Given the description of an element on the screen output the (x, y) to click on. 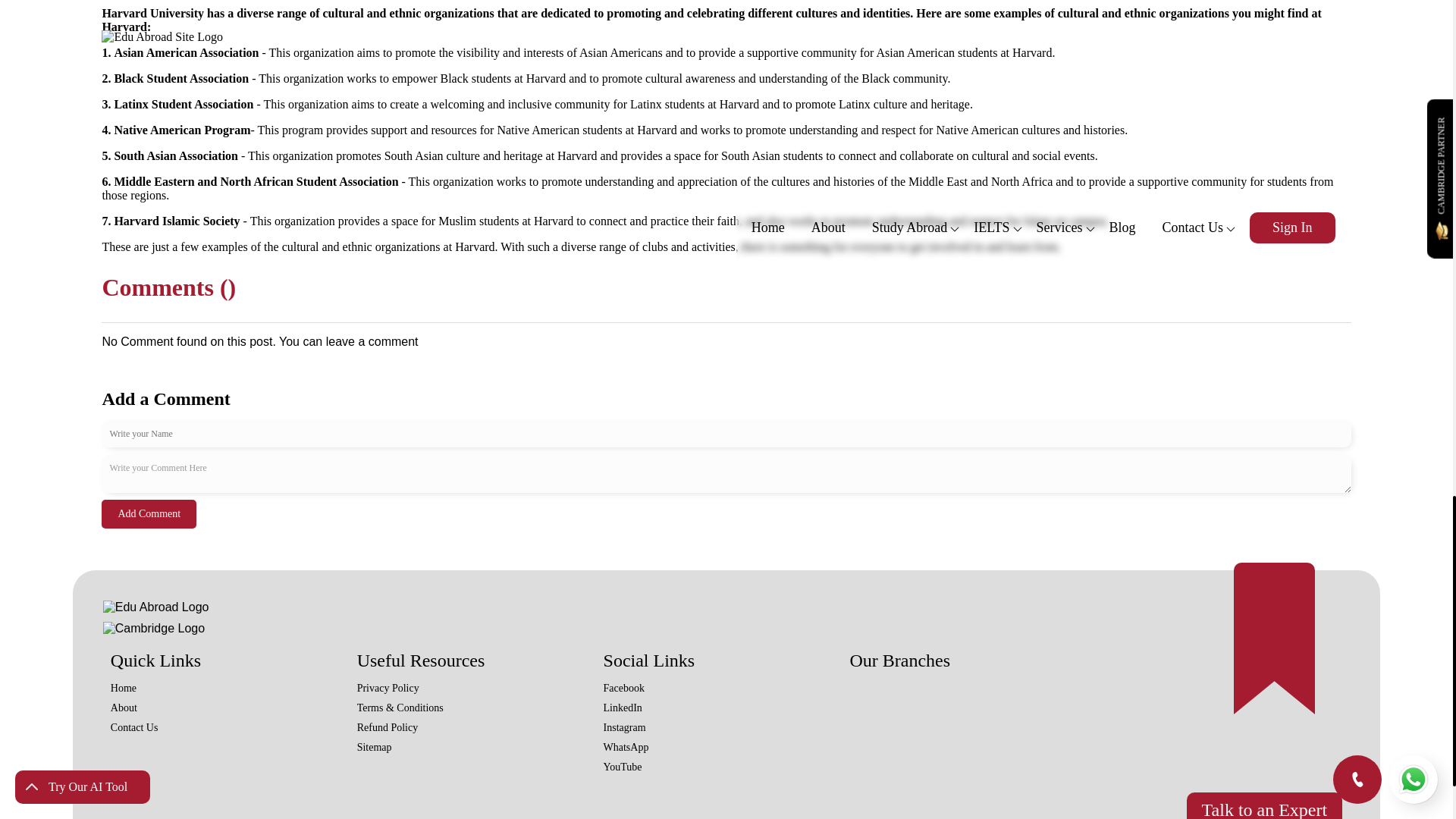
Sitemap (373, 747)
YouTube (623, 767)
Facebook (624, 688)
About (123, 708)
Home (123, 688)
WhatsApp (626, 747)
LinkedIn (623, 708)
Add Comment (148, 513)
Contact Us (134, 727)
Refund Policy (387, 727)
Privacy Policy (387, 688)
Instagram (625, 727)
